Given the description of an element on the screen output the (x, y) to click on. 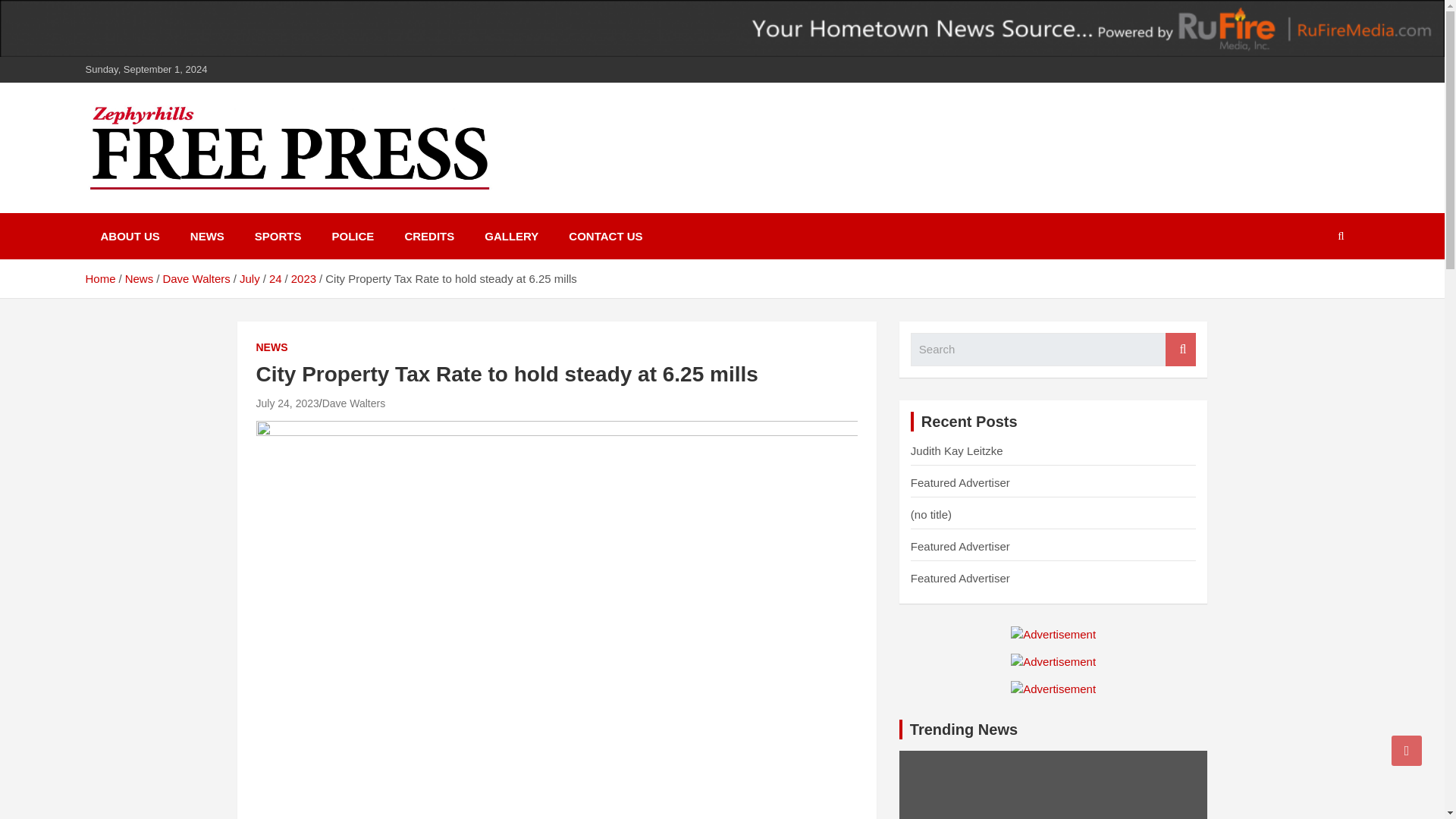
Featured Advertiser (960, 545)
July 24, 2023 (287, 403)
2023 (303, 278)
CREDITS (428, 235)
Featured Advertiser (960, 481)
Go to Top (1406, 750)
Dave Walters (353, 403)
Zephyrhills Free Press (247, 209)
GALLERY (510, 235)
Dave Walters (195, 278)
